Given the description of an element on the screen output the (x, y) to click on. 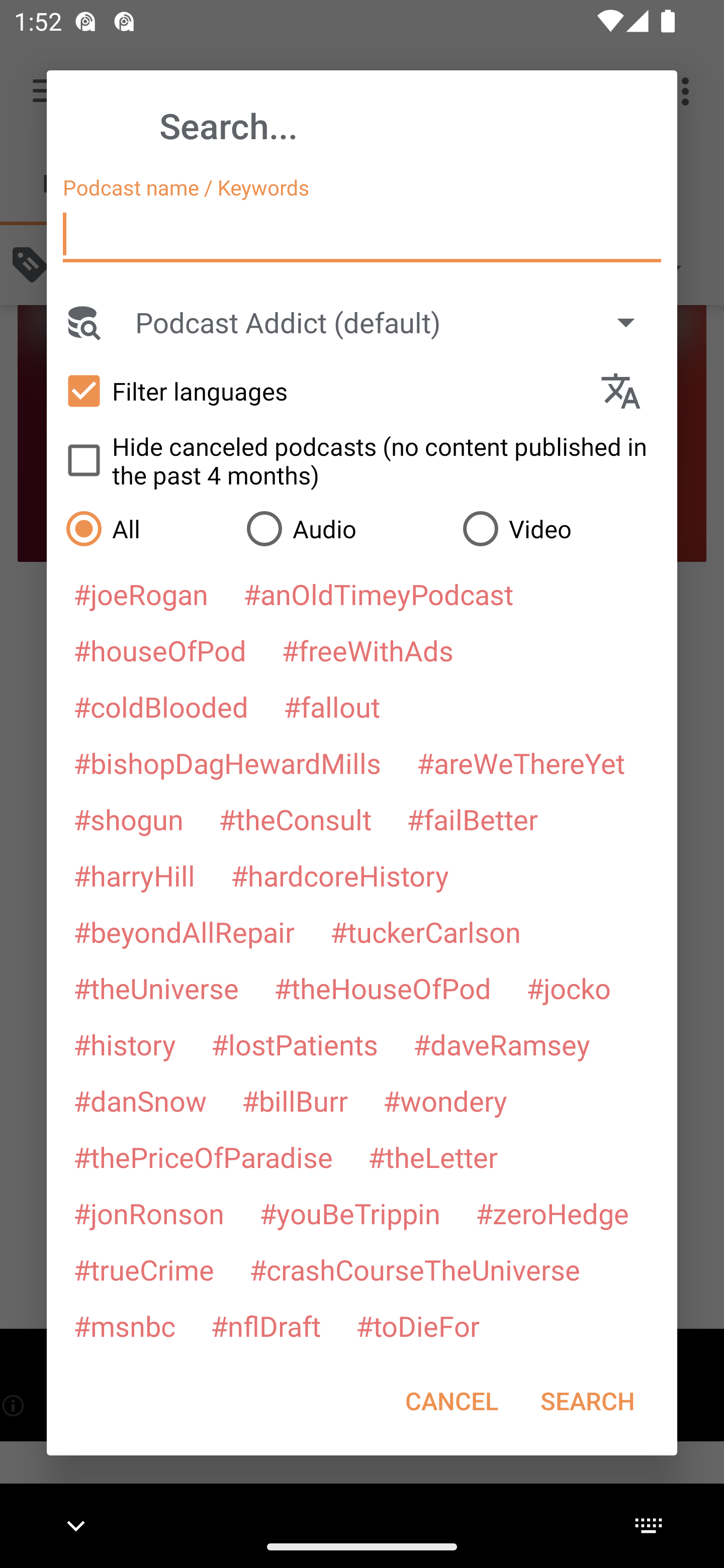
Podcast name / Keywords (361, 234)
Search Engine (82, 322)
Podcast Addict (default) (394, 322)
Languages selection (629, 390)
Filter languages (322, 390)
All (145, 528)
Audio (344, 528)
Video (560, 528)
#joeRogan (140, 594)
#anOldTimeyPodcast (378, 594)
#houseOfPod (159, 650)
#freeWithAds (367, 650)
#coldBlooded (160, 705)
#fallout (331, 705)
#bishopDagHewardMills (227, 762)
#areWeThereYet (521, 762)
#shogun (128, 818)
#theConsult (294, 818)
#failBetter (471, 818)
#harryHill (134, 875)
#hardcoreHistory (339, 875)
#beyondAllRepair (184, 931)
#tuckerCarlson (425, 931)
#theUniverse (155, 987)
#theHouseOfPod (381, 987)
#jocko (568, 987)
#history (124, 1044)
#lostPatients (294, 1044)
#daveRamsey (501, 1044)
#danSnow (139, 1100)
#billBurr (294, 1100)
#wondery (444, 1100)
#thePriceOfParadise (203, 1157)
#theLetter (432, 1157)
#jonRonson (148, 1213)
#youBeTrippin (349, 1213)
#zeroHedge (552, 1213)
#trueCrime (143, 1268)
#crashCourseTheUniverse (414, 1268)
#msnbc (124, 1325)
#nflDraft (265, 1325)
#toDieFor (417, 1325)
CANCEL (451, 1400)
SEARCH (587, 1400)
